Given the description of an element on the screen output the (x, y) to click on. 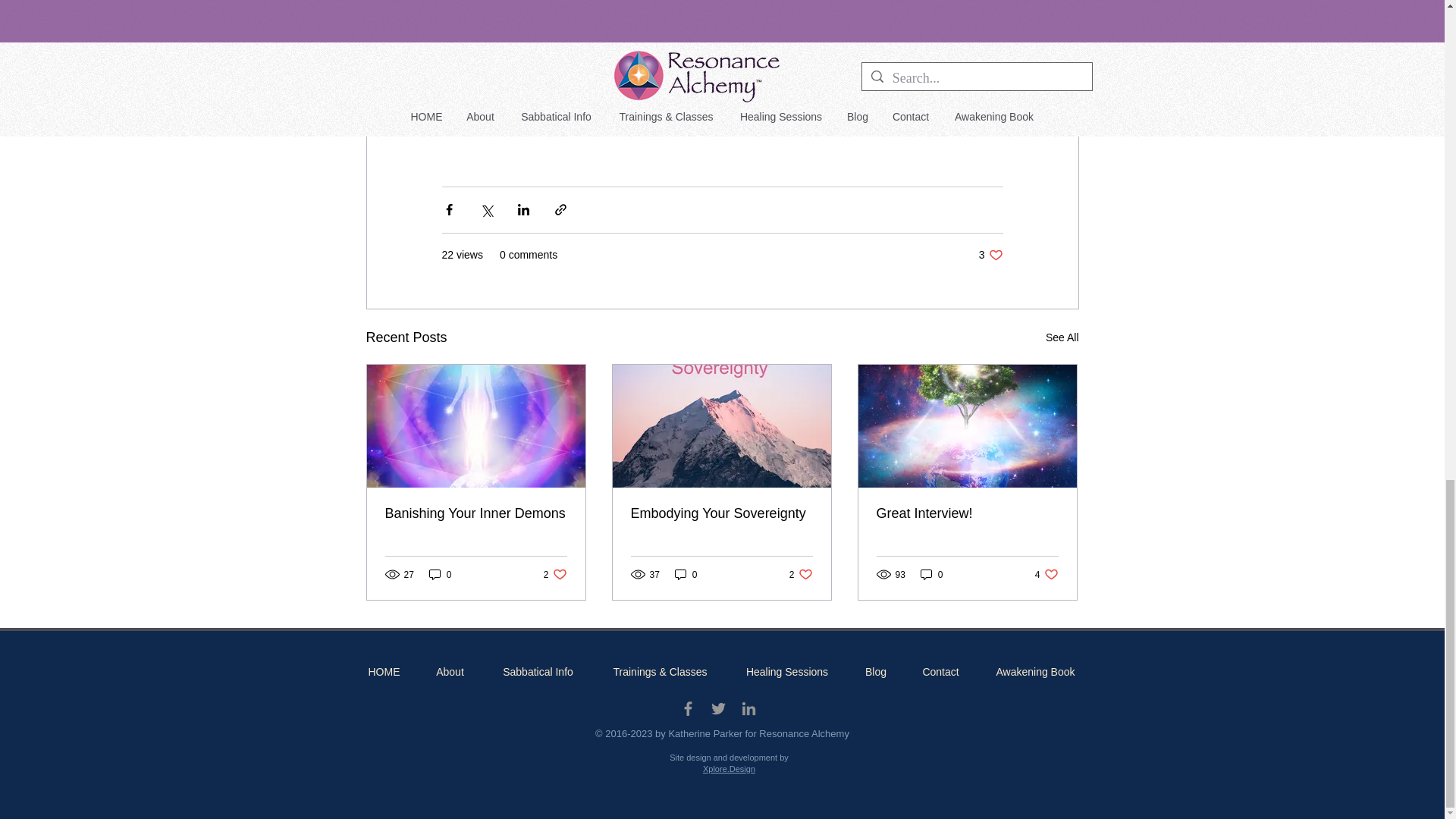
0 (440, 574)
Great Interview! (800, 574)
0 (967, 513)
Embodying Your Sovereignty (931, 574)
0 (721, 513)
Banishing Your Inner Demons (555, 574)
See All (990, 255)
